Given the description of an element on the screen output the (x, y) to click on. 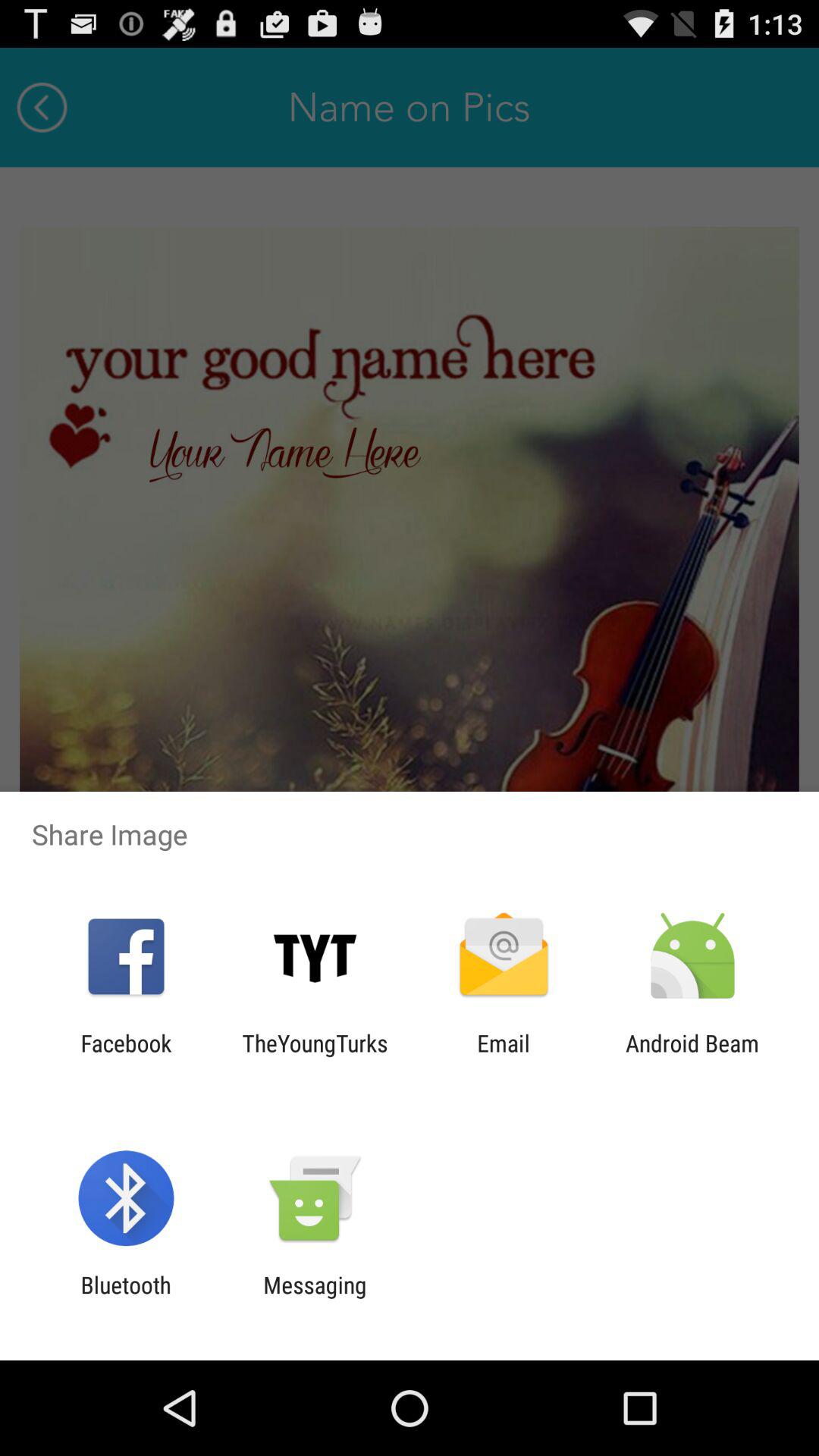
press item to the left of the messaging icon (125, 1298)
